Given the description of an element on the screen output the (x, y) to click on. 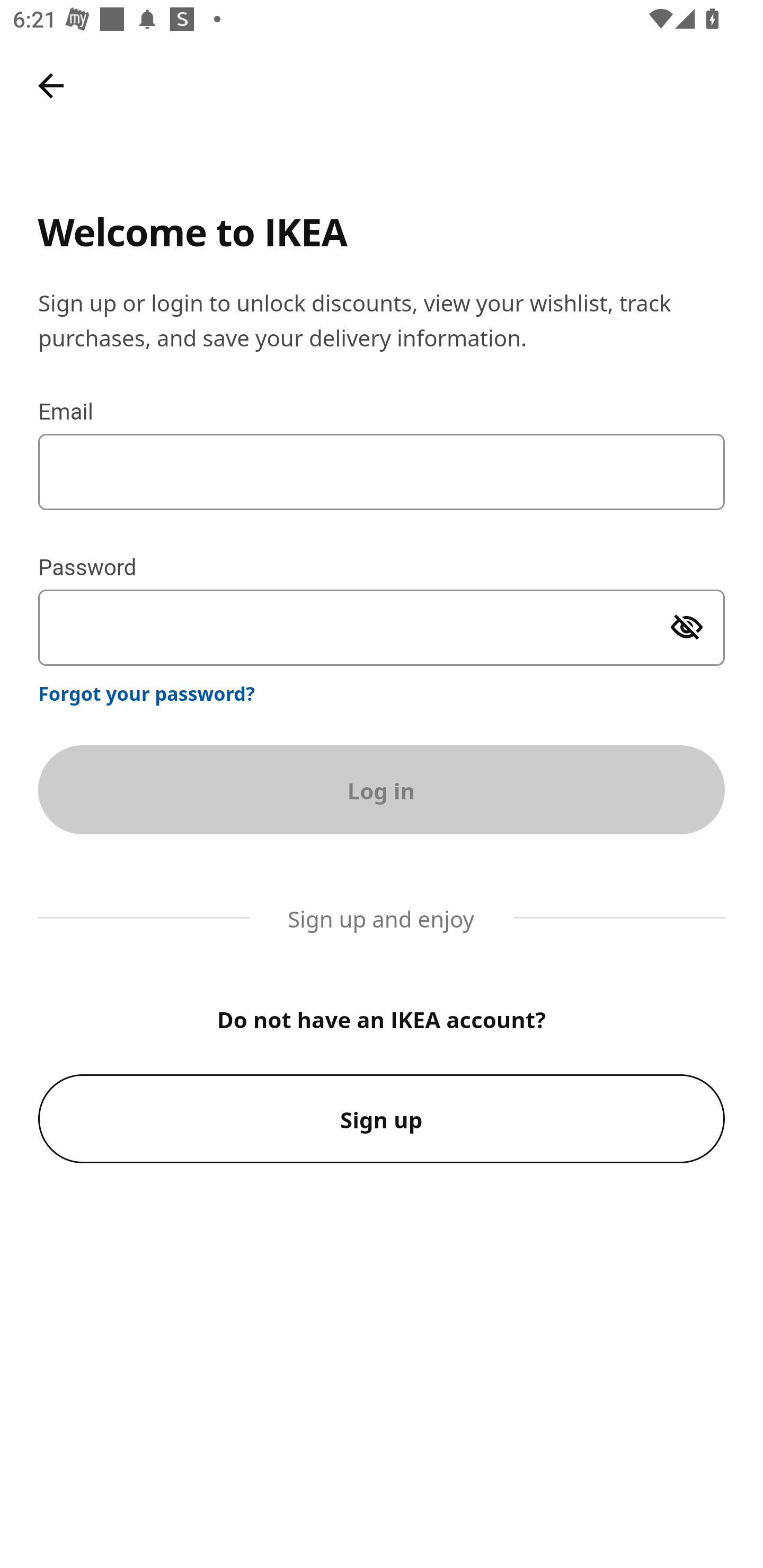
Forgot your password? (146, 692)
Log in (381, 789)
Sign up (381, 1118)
